Given the description of an element on the screen output the (x, y) to click on. 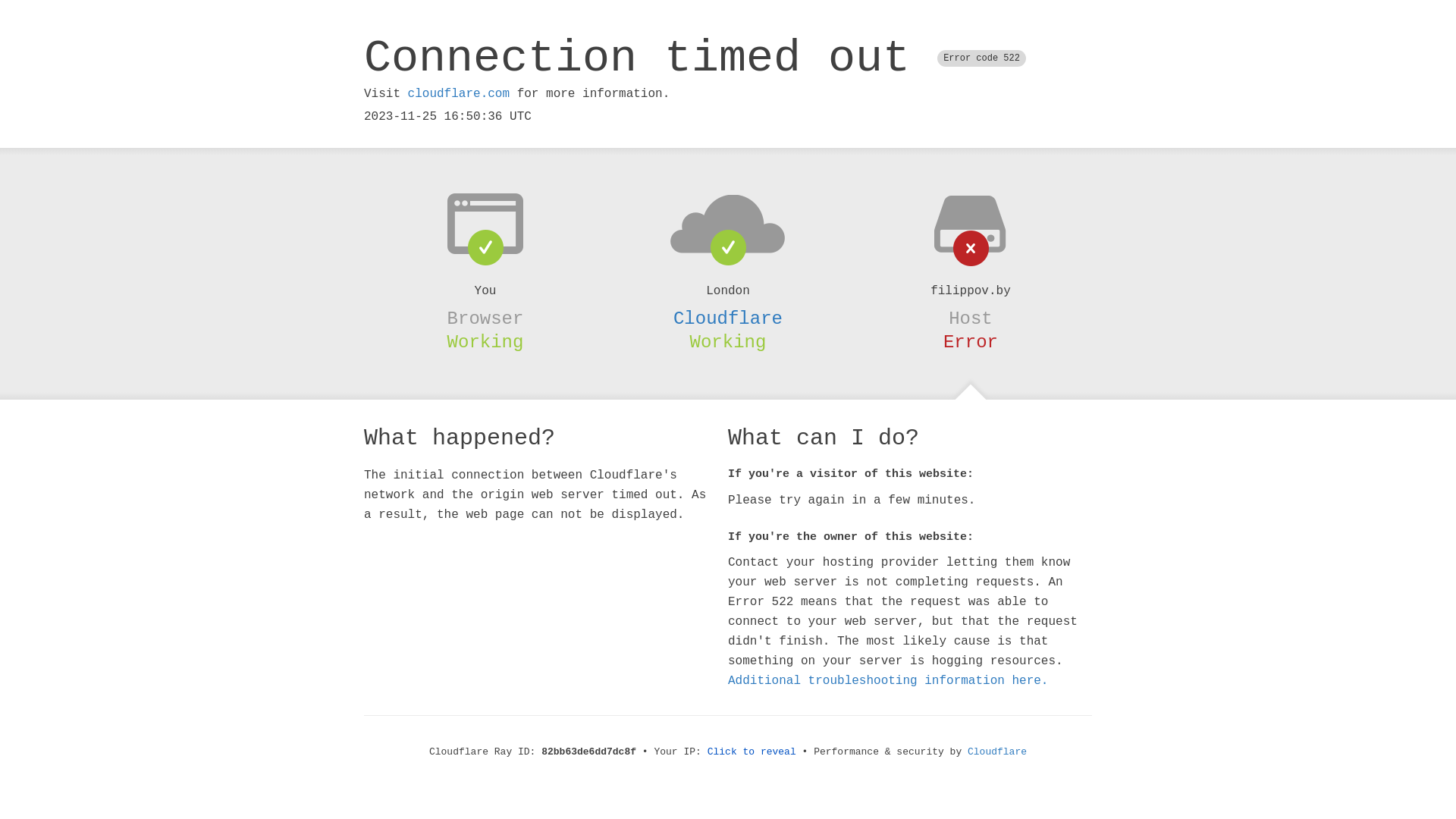
cloudflare.com Element type: text (458, 93)
Click to reveal Element type: text (751, 751)
Cloudflare Element type: text (996, 751)
Additional troubleshooting information here. Element type: text (888, 680)
Cloudflare Element type: text (727, 318)
